Given the description of an element on the screen output the (x, y) to click on. 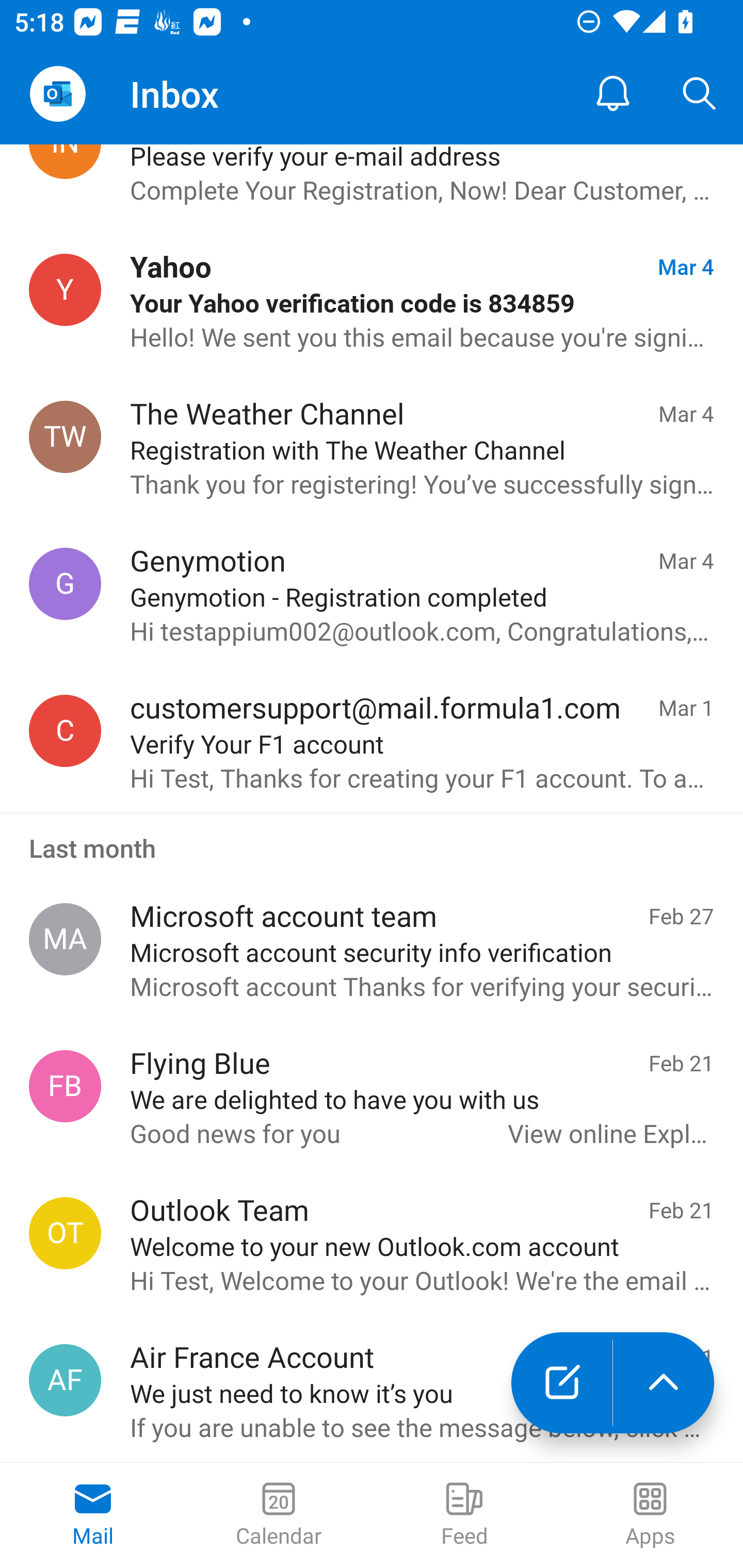
Notification Center (612, 93)
Search, ,  (699, 93)
Open Navigation Drawer (57, 94)
Yahoo, no-reply@cc.yahoo-inc.com (64, 290)
The Weather Channel, noreply@weather.com (64, 437)
Genymotion, genymotion-activation@genymobile.com (64, 583)
Flying Blue, do_not_reply@info-flyingblue.com (64, 1086)
Outlook Team, no-reply@microsoft.com (64, 1233)
New mail (561, 1382)
launch the extended action menu (663, 1382)
Air France Account, account@infos-airfrance.com (64, 1379)
Calendar (278, 1515)
Feed (464, 1515)
Apps (650, 1515)
